Given the description of an element on the screen output the (x, y) to click on. 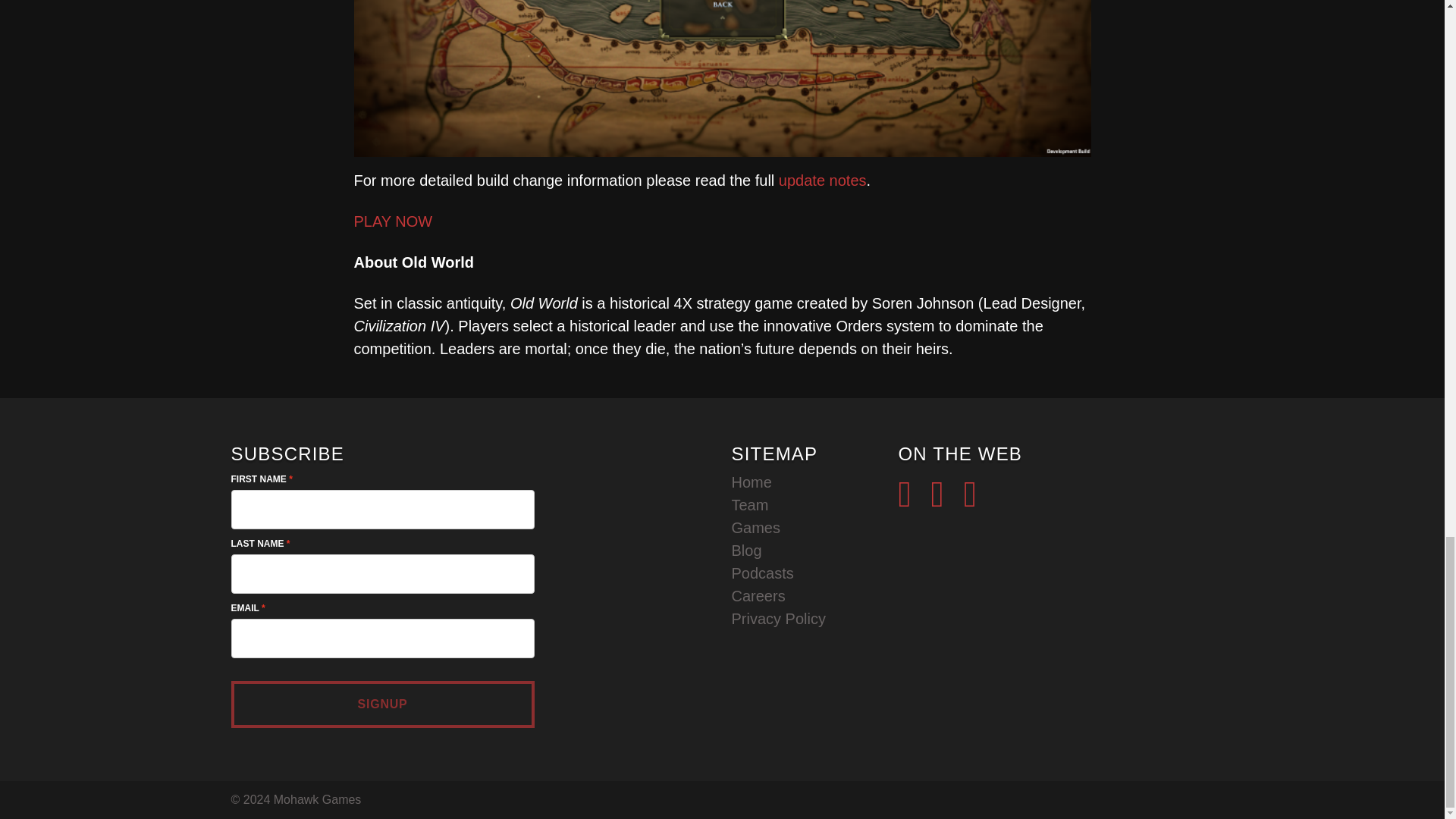
Blog (745, 550)
Careers (757, 596)
Podcasts (761, 573)
update notes (822, 180)
Team (749, 504)
PLAY NOW (392, 221)
Games (754, 527)
Privacy Policy (777, 618)
Home (750, 482)
SIGNUP (382, 704)
